Given the description of an element on the screen output the (x, y) to click on. 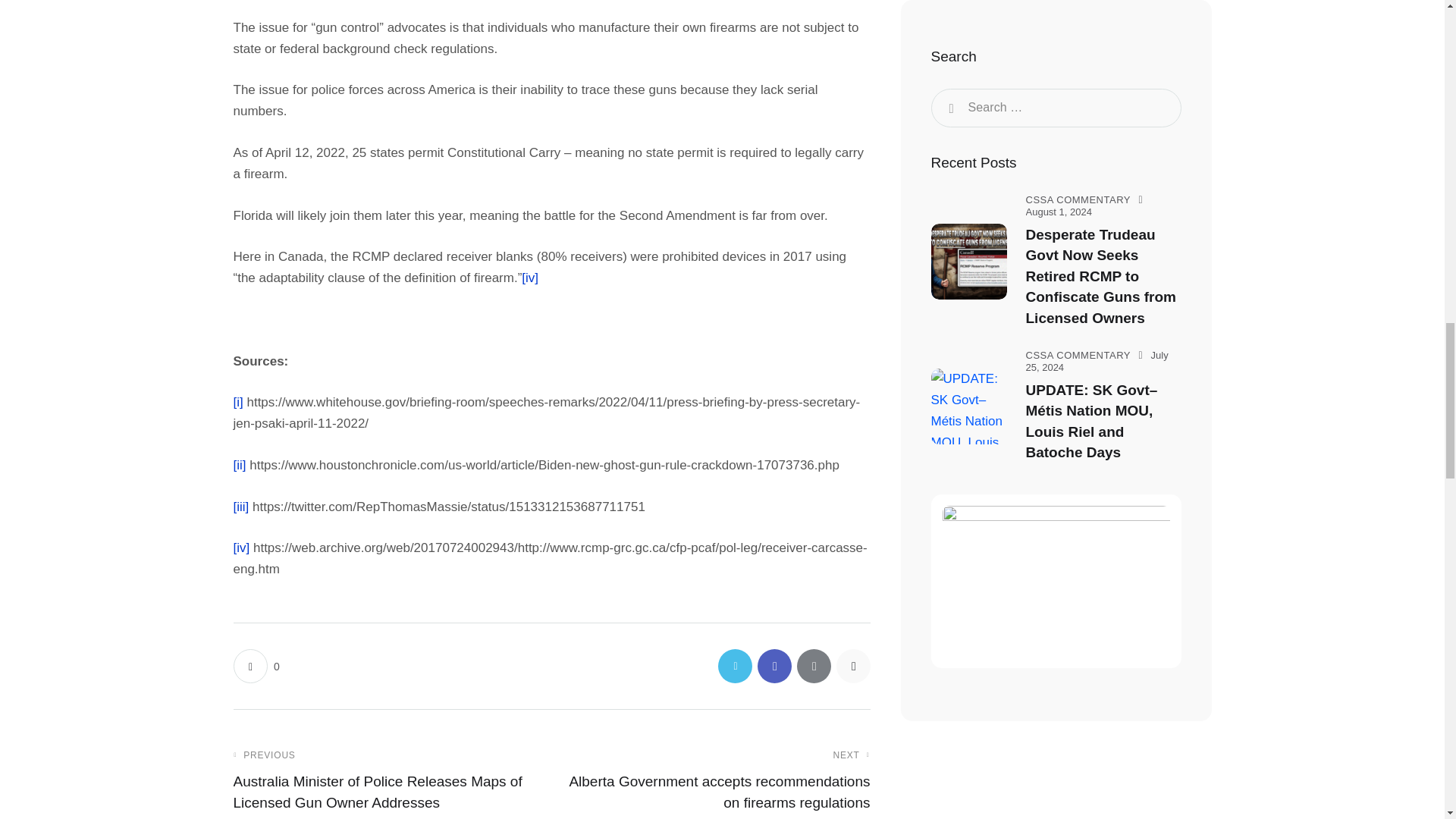
Like (255, 666)
Copy URL to clipboard (852, 666)
